Given the description of an element on the screen output the (x, y) to click on. 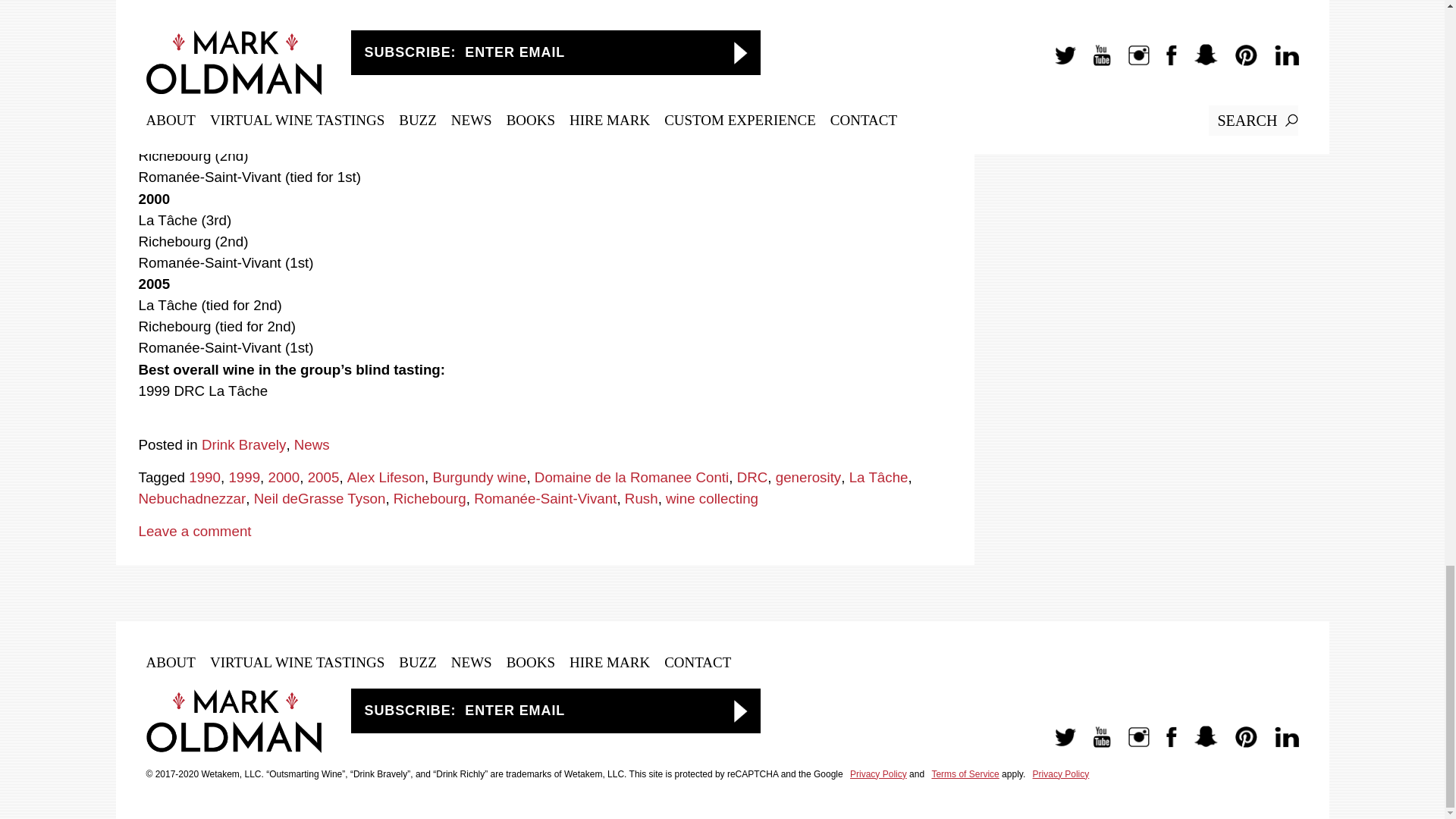
SnapChat (1198, 745)
Drink Bravely (243, 444)
Twitter (1057, 745)
Facebook (1163, 745)
Burgundy wine (478, 477)
YouTube (1094, 745)
2005 (323, 477)
generosity (808, 477)
News (312, 444)
LinkedIn (1278, 745)
